Given the description of an element on the screen output the (x, y) to click on. 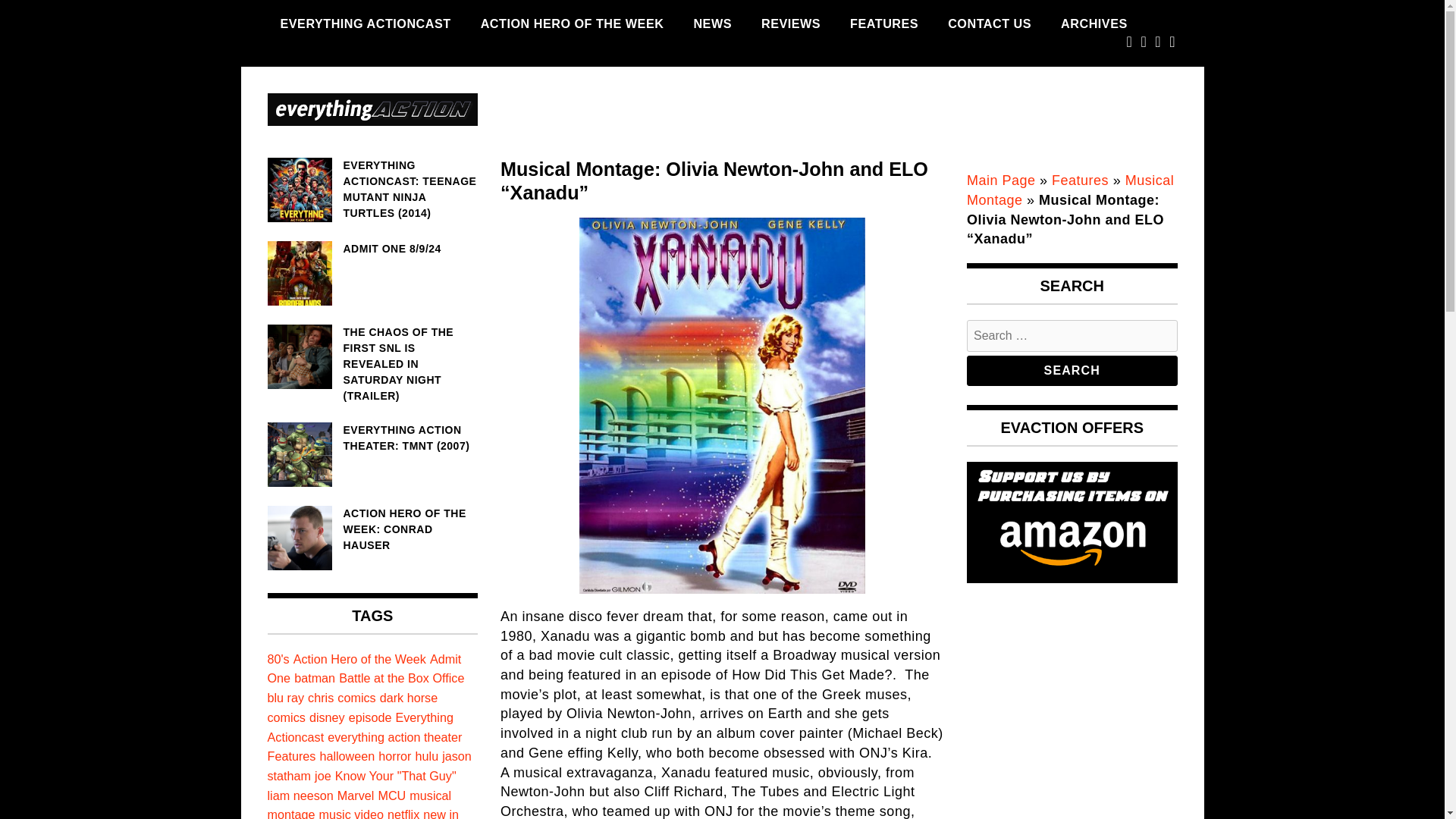
NEWS (711, 23)
CONTACT US (989, 23)
Search (1071, 370)
FEATURES (884, 23)
Search (1071, 370)
Everything Action (339, 169)
ARCHIVES (1093, 23)
EVERYTHING ACTIONCAST (364, 23)
ACTION HERO OF THE WEEK (571, 23)
REVIEWS (790, 23)
